Given the description of an element on the screen output the (x, y) to click on. 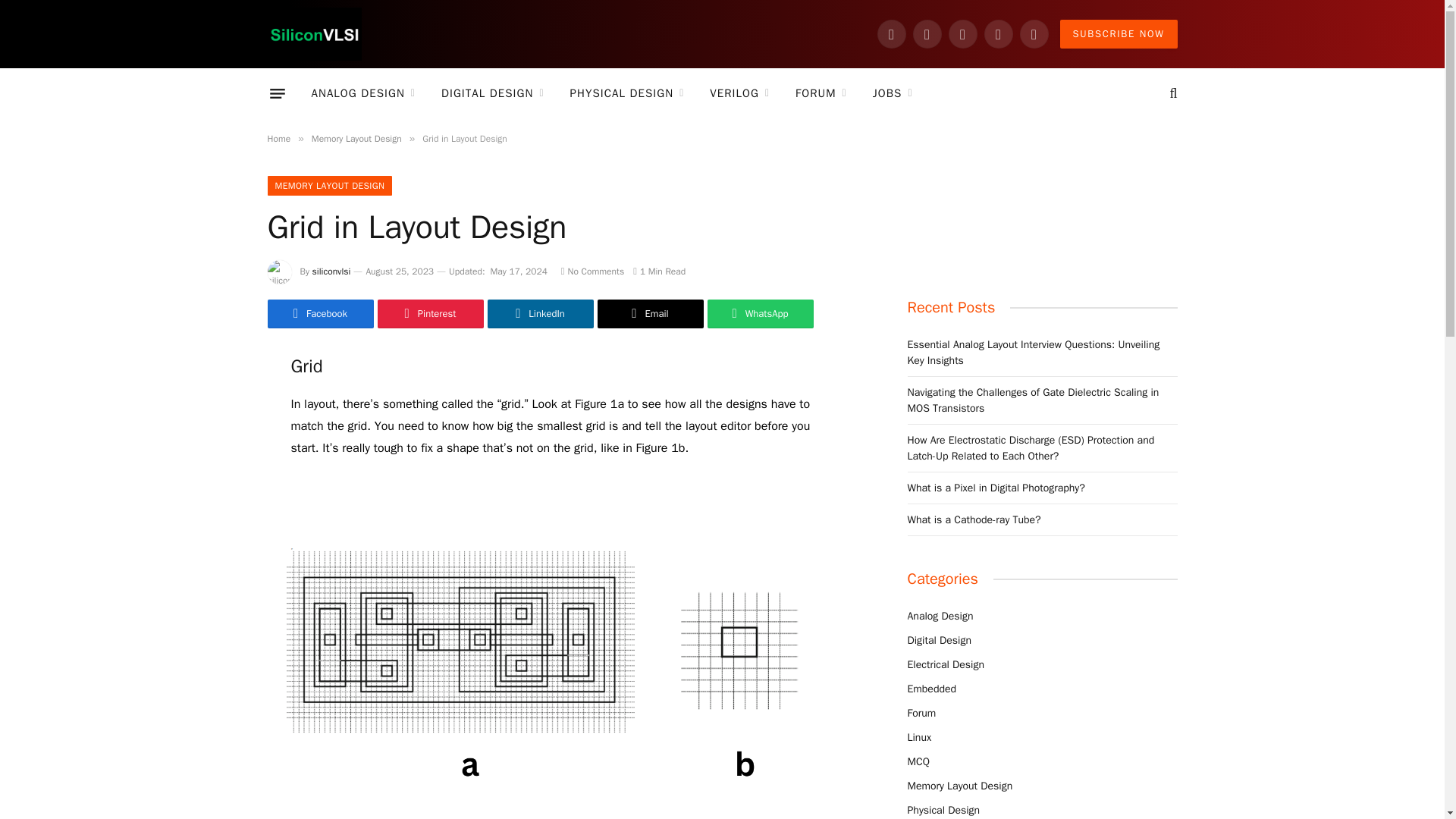
Facebook (891, 33)
Share via Email (649, 313)
VERILOG (740, 92)
Instagram (927, 33)
JOBS (893, 92)
SUBSCRIBE NOW (1118, 33)
Share on WhatsApp (759, 313)
PHYSICAL DESIGN (627, 92)
Share on Pinterest (430, 313)
FORUM (821, 92)
